Given the description of an element on the screen output the (x, y) to click on. 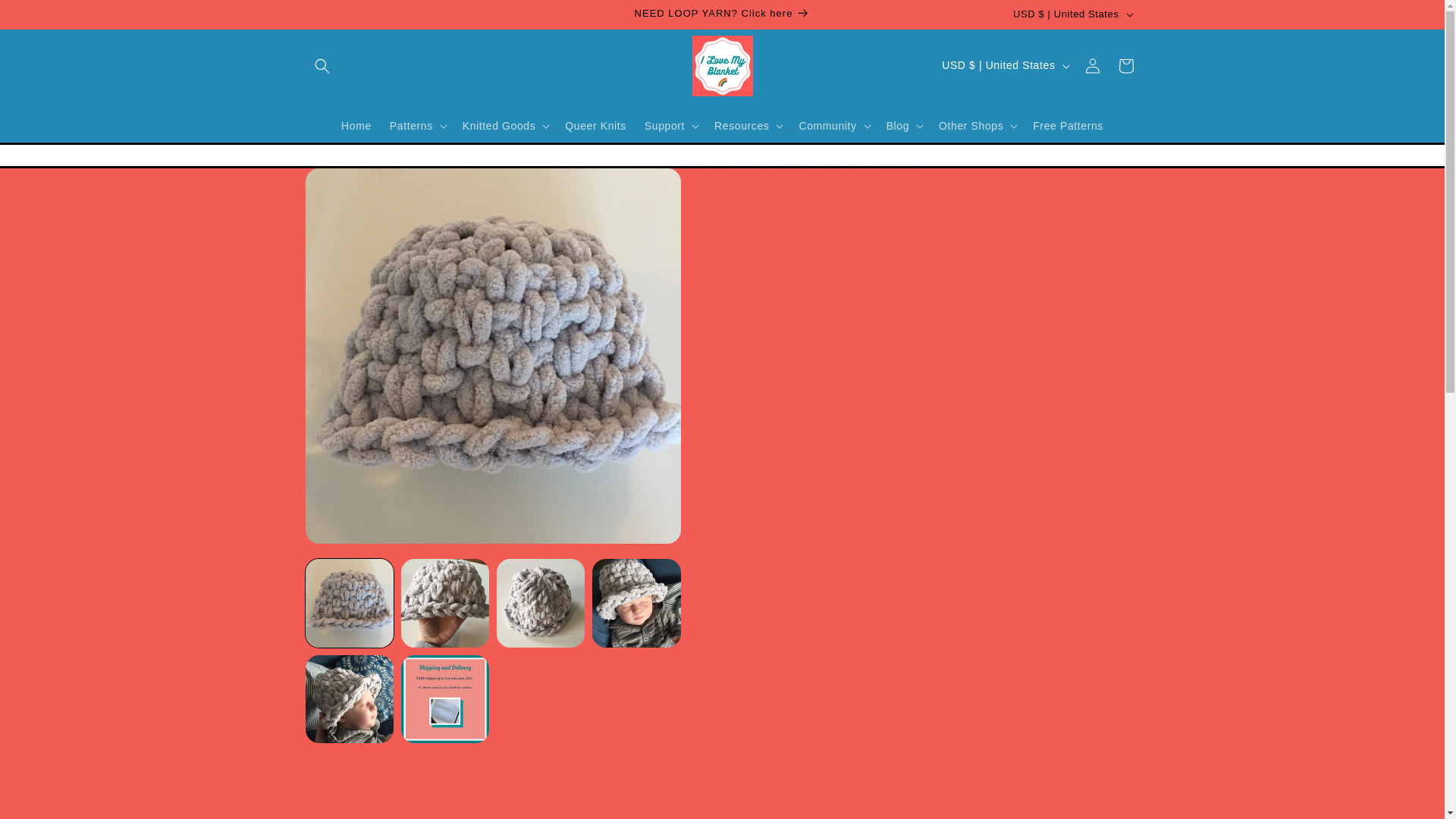
1 (773, 340)
NEED LOOP YARN? Click here (721, 14)
Skip to content (45, 17)
